Given the description of an element on the screen output the (x, y) to click on. 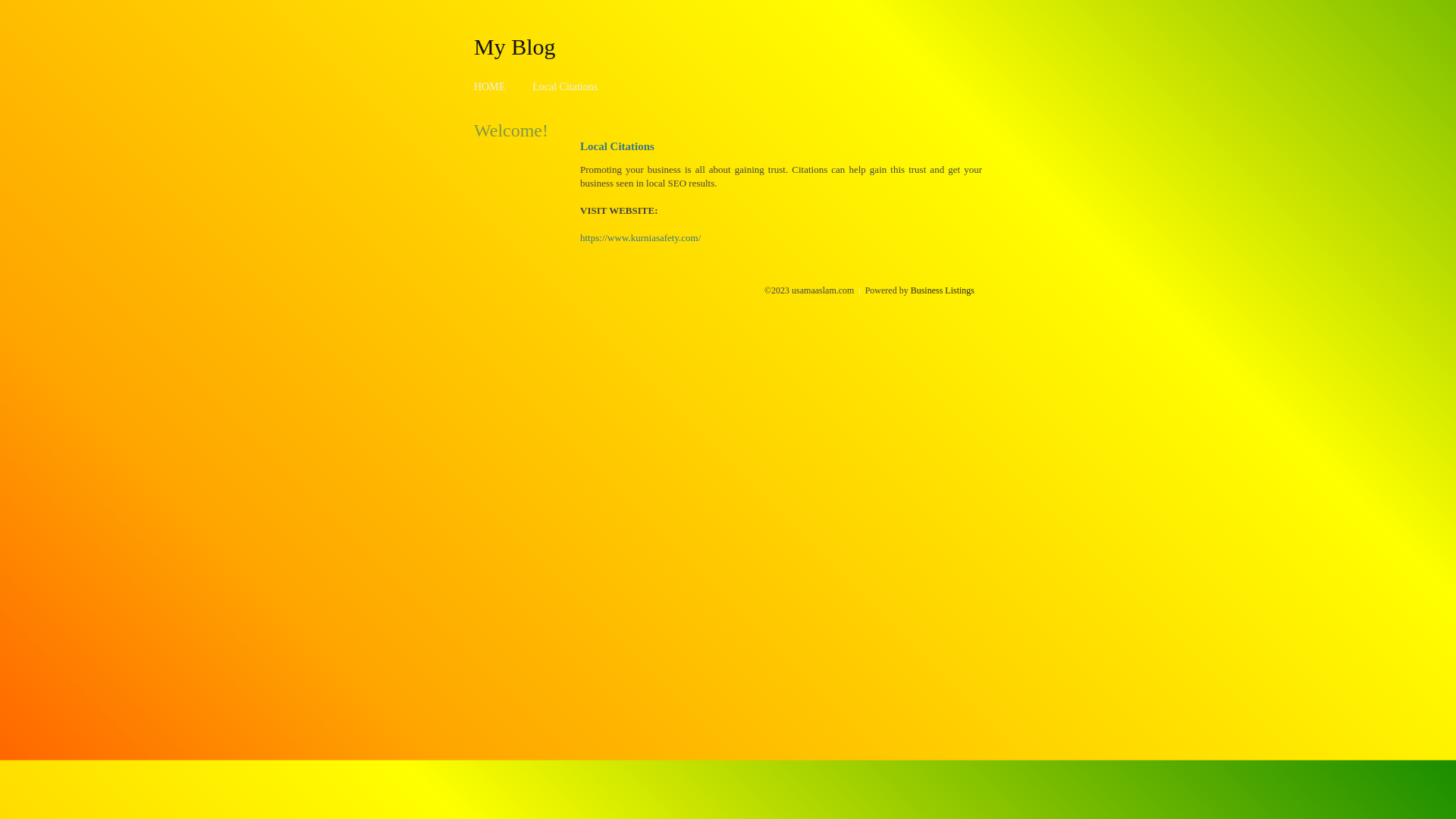
Business Listings Element type: text (942, 290)
Local Citations Element type: text (564, 86)
HOME Element type: text (489, 86)
My Blog Element type: text (514, 46)
https://www.kurniasafety.com/ Element type: text (640, 237)
